Given the description of an element on the screen output the (x, y) to click on. 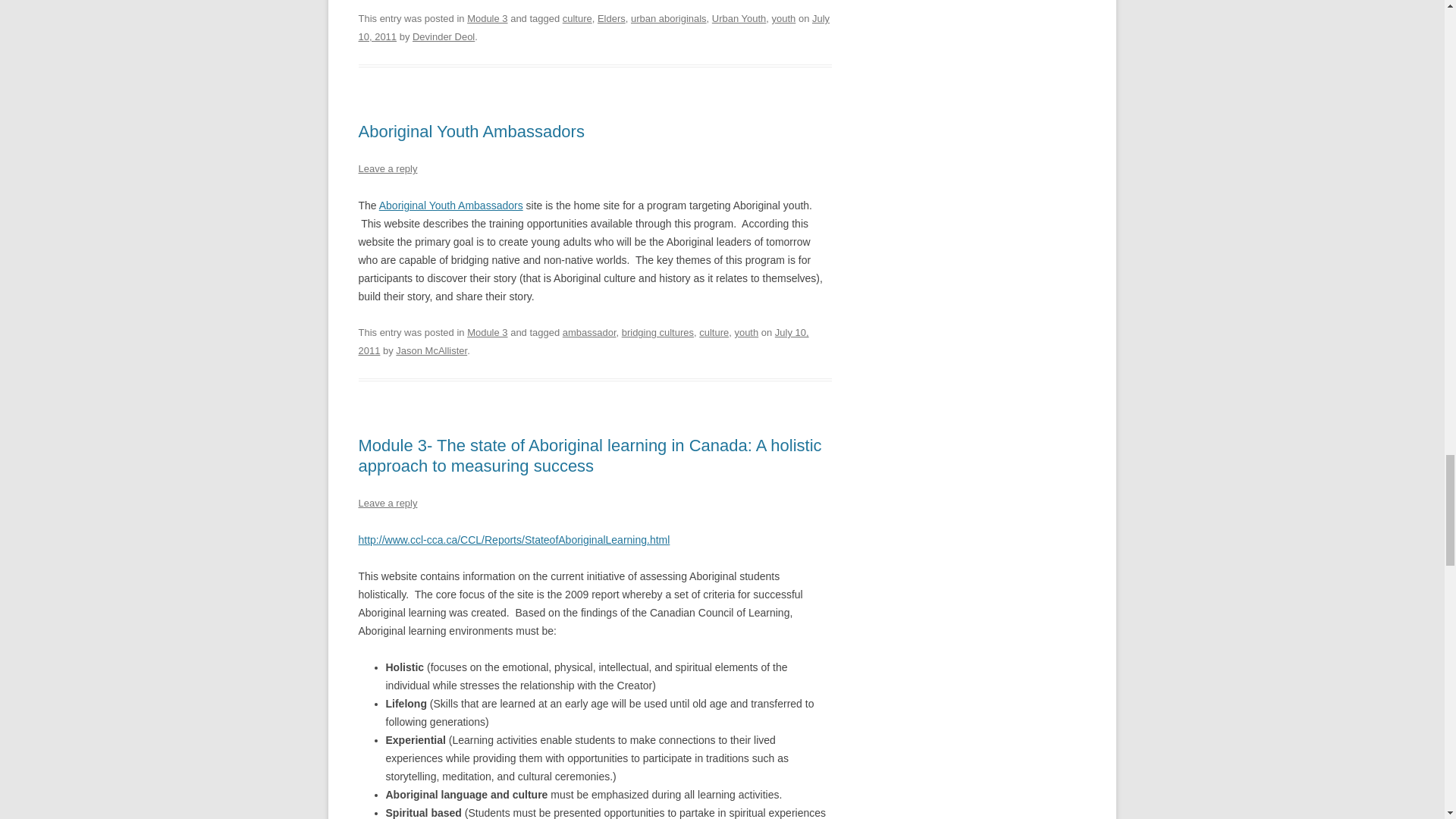
View all posts by Devinder Deol (443, 36)
View all posts by Jason McAllister (431, 350)
11:05 pm (593, 27)
6:09 pm (583, 341)
